Given the description of an element on the screen output the (x, y) to click on. 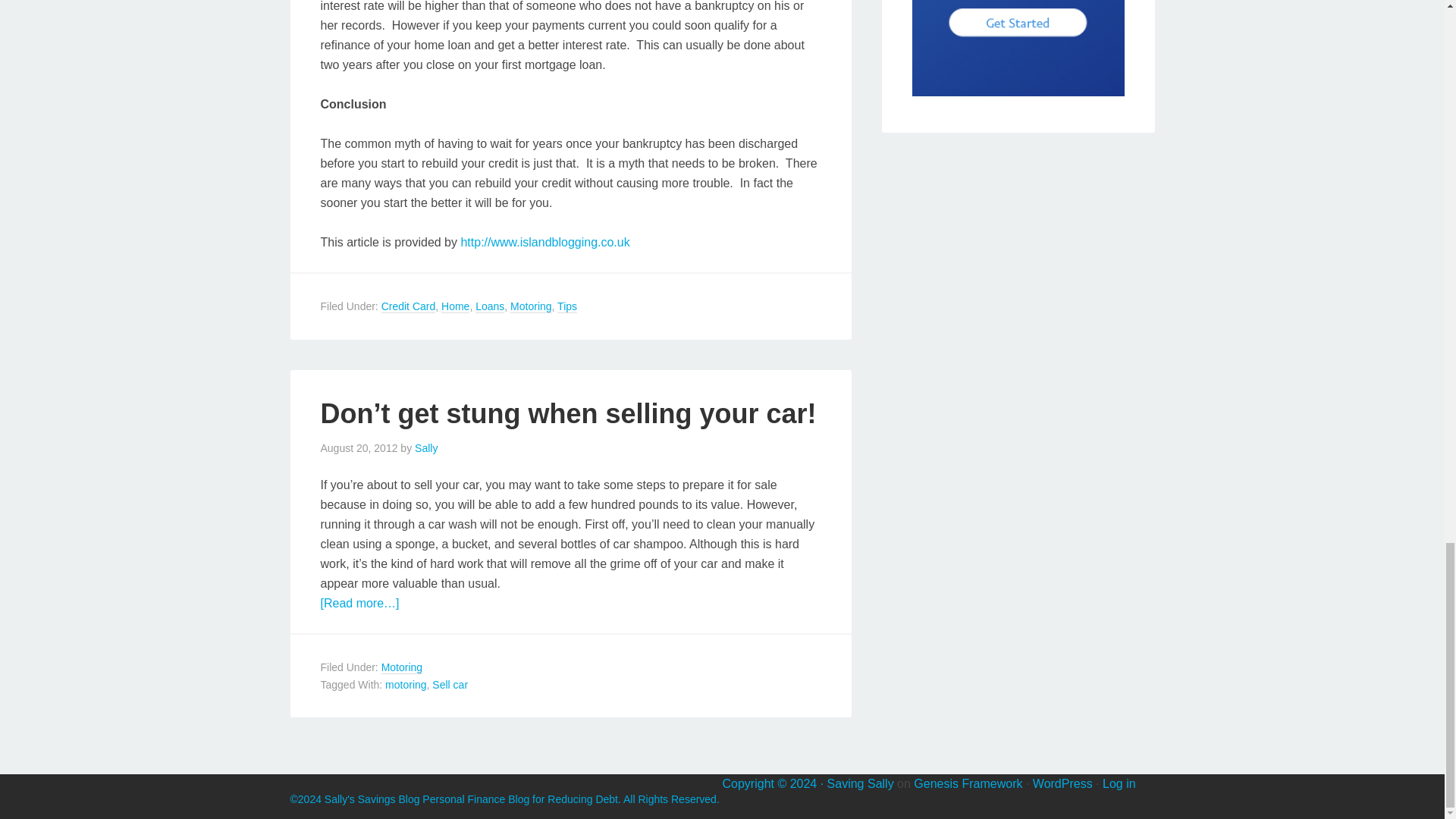
Loans (489, 306)
Home (454, 306)
Sell car (449, 684)
Motoring (401, 667)
Genesis Framework (968, 783)
Saving Sally (860, 783)
motoring (405, 684)
Tips (566, 306)
Sally (426, 448)
Credit Card (408, 306)
